Given the description of an element on the screen output the (x, y) to click on. 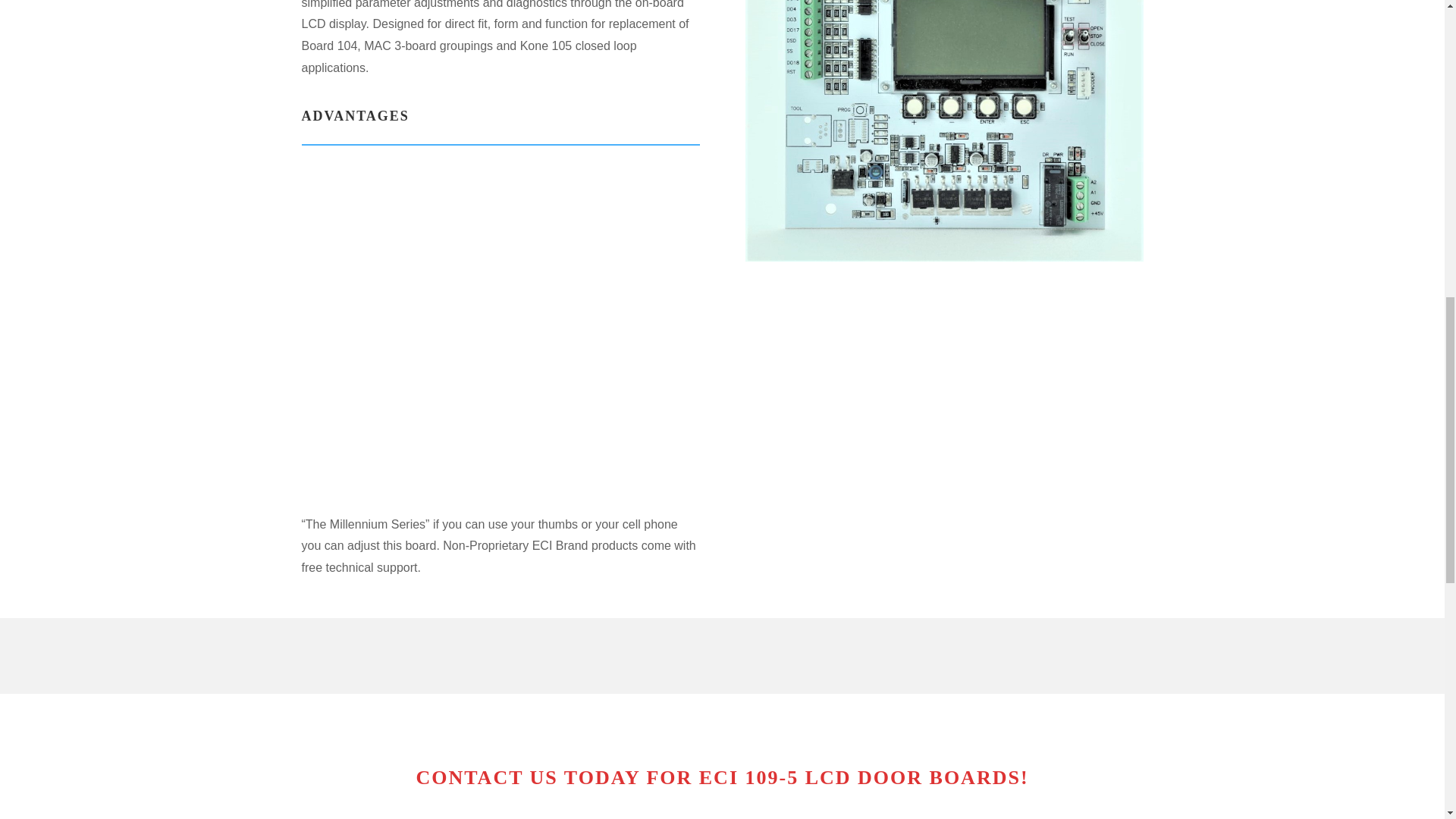
109lcd-board-rew4215-2 (943, 130)
